Given the description of an element on the screen output the (x, y) to click on. 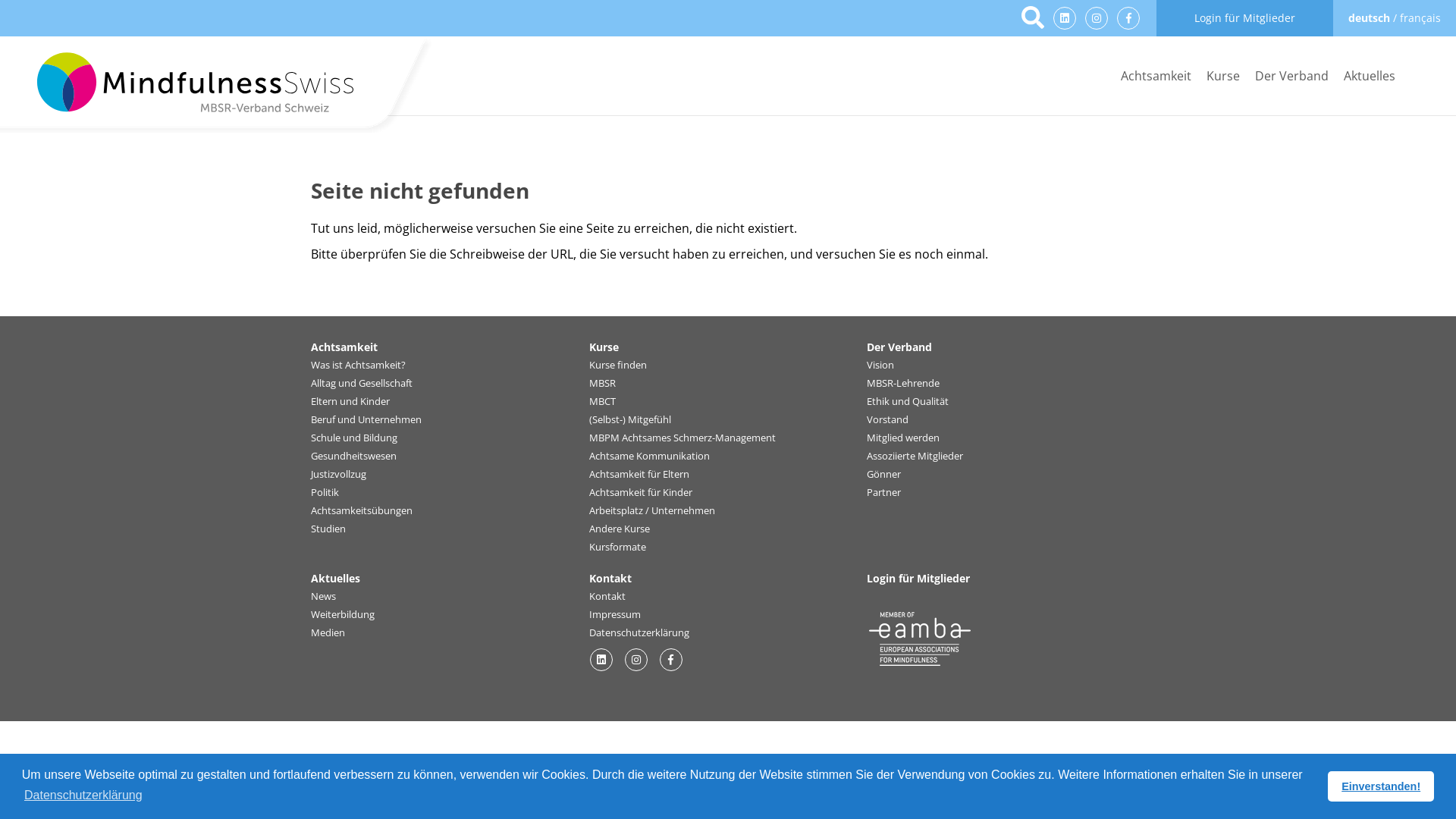
Der Verband Element type: text (1291, 75)
Aktuelles Element type: text (1369, 75)
Arbeitsplatz / Unternehmen Element type: text (652, 510)
Weiterbildung Element type: text (342, 614)
Einverstanden! Element type: text (1380, 786)
Studien Element type: text (327, 528)
News Element type: text (322, 596)
Politik Element type: text (324, 492)
Justizvollzug Element type: text (338, 474)
MBSR Element type: text (602, 383)
MBSR-Lehrende Element type: text (902, 383)
Los Element type: text (1032, 18)
Vorstand Element type: text (887, 419)
MBSR-Verband Schweiz Element type: hover (219, 85)
Mitglied werden Element type: text (902, 437)
MBPM Achtsames Schmerz-Management Element type: text (682, 437)
Schule und Bildung Element type: text (353, 437)
Partner Element type: text (883, 492)
Achtsamkeit Element type: text (1155, 75)
Achtsame Kommunikation Element type: text (649, 456)
Vision Element type: text (880, 365)
MBCT Element type: text (602, 401)
Medien Element type: text (327, 632)
Gesundheitswesen Element type: text (353, 456)
Kontakt Element type: text (610, 578)
Beruf und Unternehmen Element type: text (365, 419)
Andere Kurse Element type: text (619, 528)
Alltag und Gesellschaft Element type: text (361, 383)
Was ist Achtsamkeit? Element type: text (357, 365)
Kurse finden Element type: text (617, 365)
Kontakt Element type: text (607, 596)
Eltern und Kinder Element type: text (349, 401)
Aktuelles Element type: text (335, 578)
Kursformate Element type: text (617, 547)
Kurse Element type: text (1222, 75)
Kurse Element type: text (603, 346)
Assoziierte Mitglieder Element type: text (914, 456)
Achtsamkeit Element type: text (343, 346)
Der Verband Element type: text (898, 346)
Impressum Element type: text (614, 614)
